Given the description of an element on the screen output the (x, y) to click on. 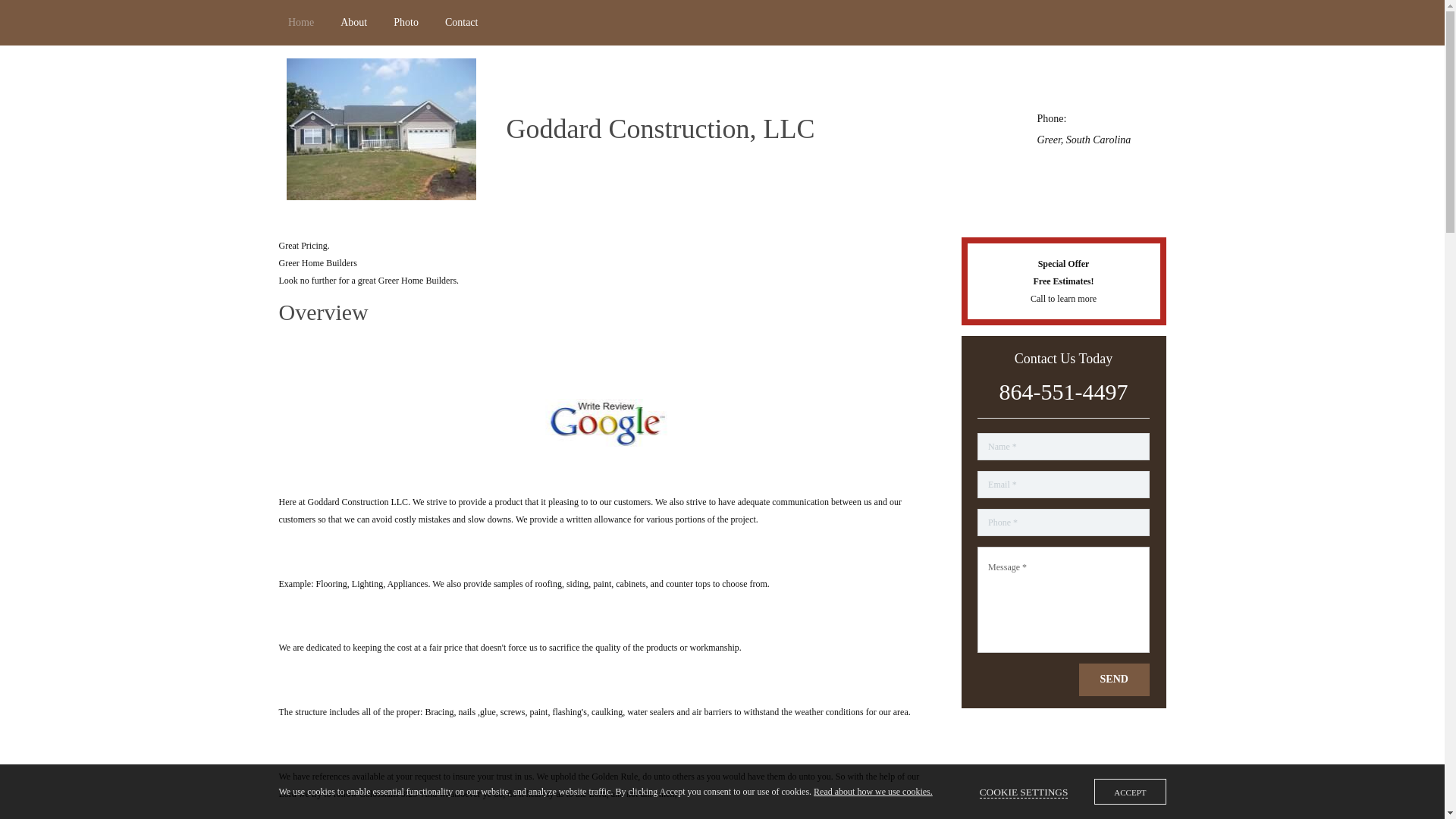
Contact (461, 22)
Photo (406, 22)
Home (301, 22)
Read about how we use cookies. (873, 790)
SEND (1114, 679)
Google Local listing (607, 422)
About (354, 22)
ACCEPT (1130, 791)
COOKIE SETTINGS (1023, 792)
Goddard Construction, LLC (660, 129)
